Given the description of an element on the screen output the (x, y) to click on. 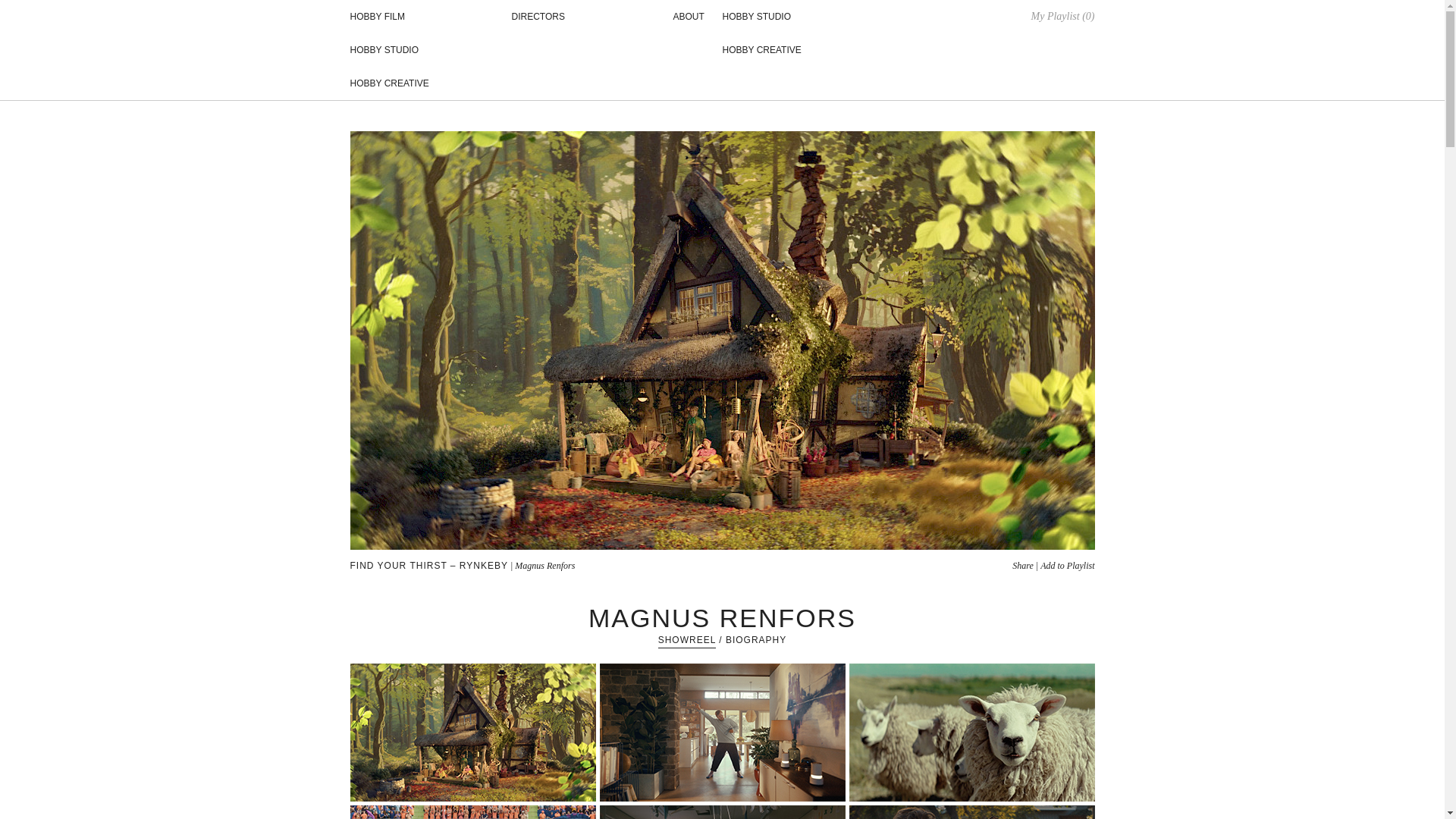
HOBBY FILM (377, 16)
HOBBY STUDIO (384, 50)
DIRECTORS (537, 16)
HOBBY CREATIVE (389, 82)
